Given the description of an element on the screen output the (x, y) to click on. 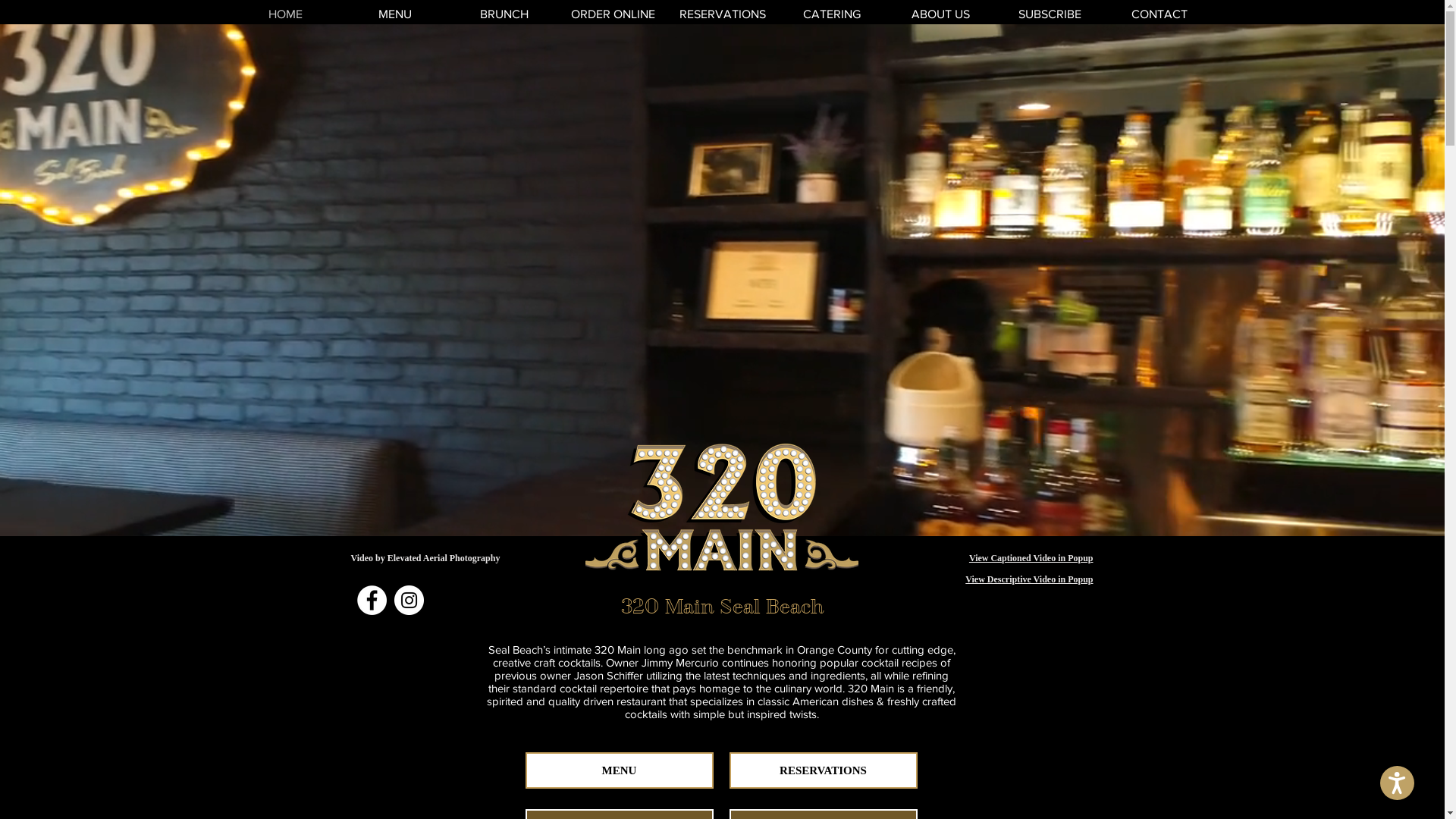
CATERING Element type: text (830, 13)
MENU Element type: text (618, 770)
BRUNCH Element type: text (503, 13)
SUBSCRIBE Element type: text (1049, 13)
View Captioned Video in Popup Element type: text (1031, 557)
ABOUT US Element type: text (939, 13)
ORDER ONLINE Element type: text (612, 13)
RESERVATIONS Element type: text (823, 770)
MENU Element type: text (393, 13)
RESERVATIONS Element type: text (721, 13)
CONTACT Element type: text (1158, 13)
View Descriptive Video in Popup Element type: text (1028, 579)
HOME Element type: text (284, 13)
